Given the description of an element on the screen output the (x, y) to click on. 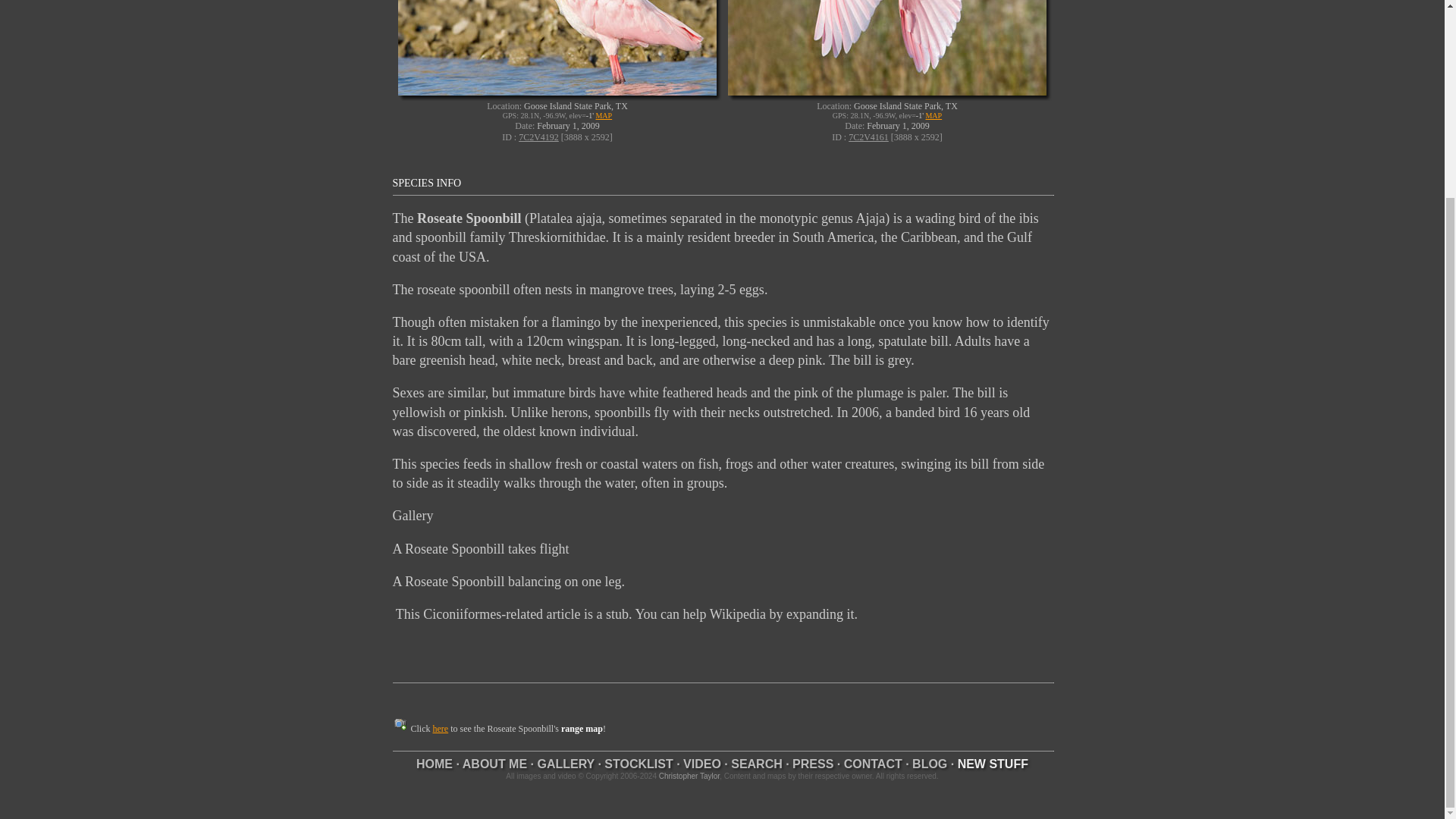
NEW STUFF (992, 763)
BLOG (929, 763)
New Images - LAST UPDATED August 3rd, 2024! (992, 763)
MAP (933, 115)
Video Footage Gallery (701, 763)
Home (434, 763)
GALLERY (565, 763)
Contact Me (873, 763)
MAP (603, 115)
